Given the description of an element on the screen output the (x, y) to click on. 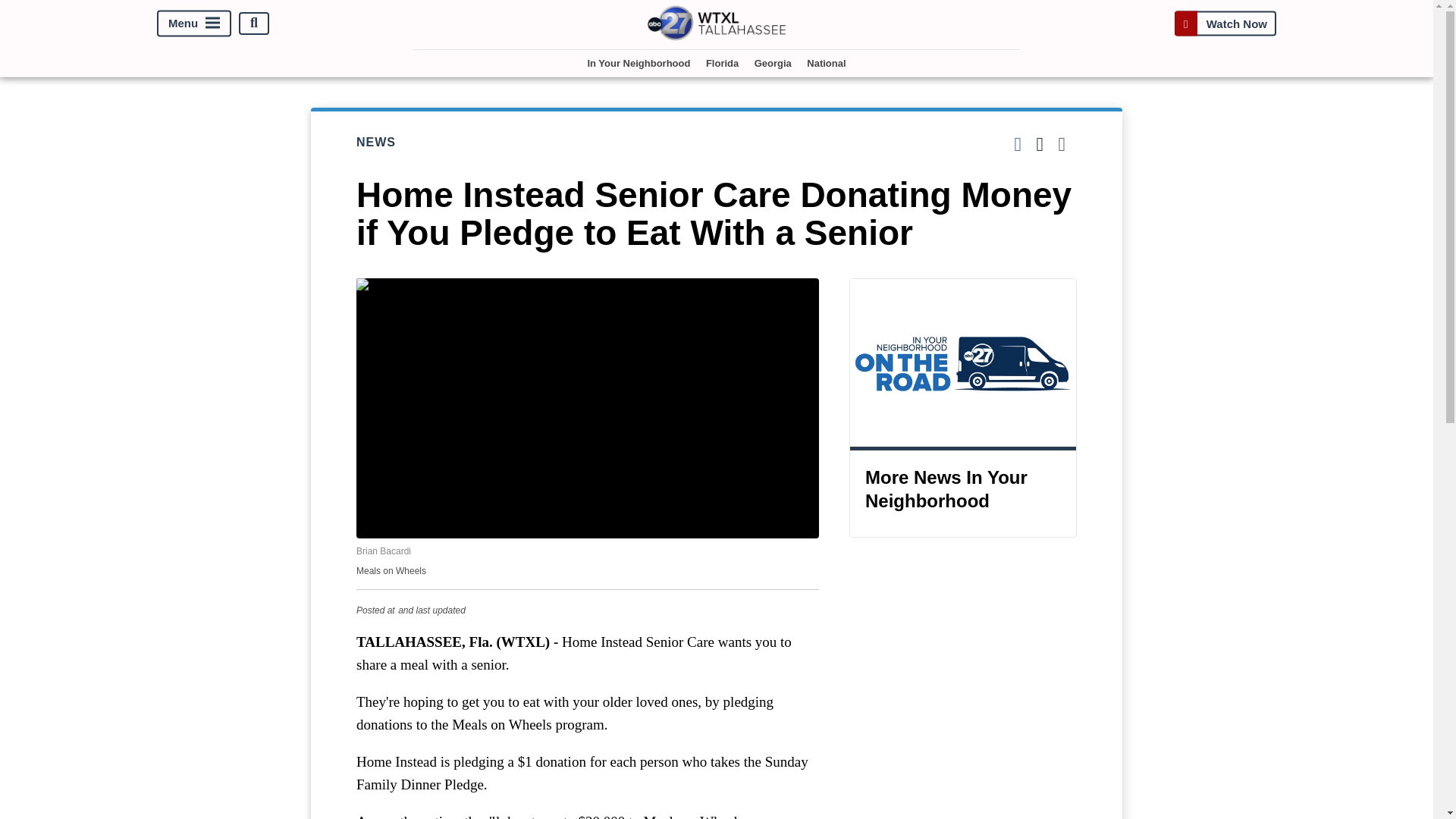
Menu (194, 22)
Watch Now (1224, 22)
